Given the description of an element on the screen output the (x, y) to click on. 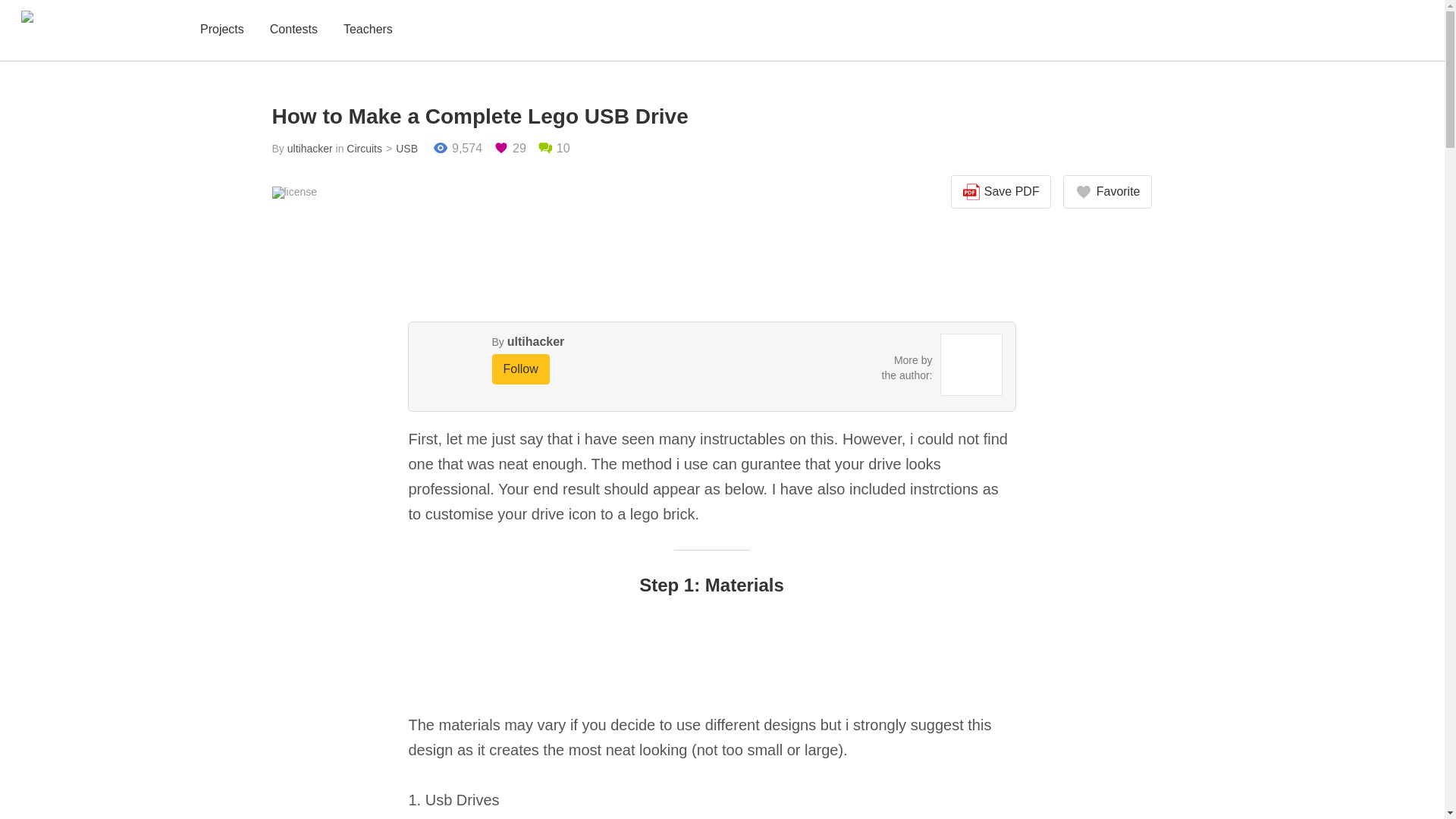
USB (399, 148)
ultihacker (535, 341)
Projects (221, 30)
Follow (520, 368)
Save PDF (1000, 191)
ultihacker (309, 148)
More by the author: (907, 366)
Contests (293, 30)
Favorite (1106, 191)
Teachers (368, 30)
